Given the description of an element on the screen output the (x, y) to click on. 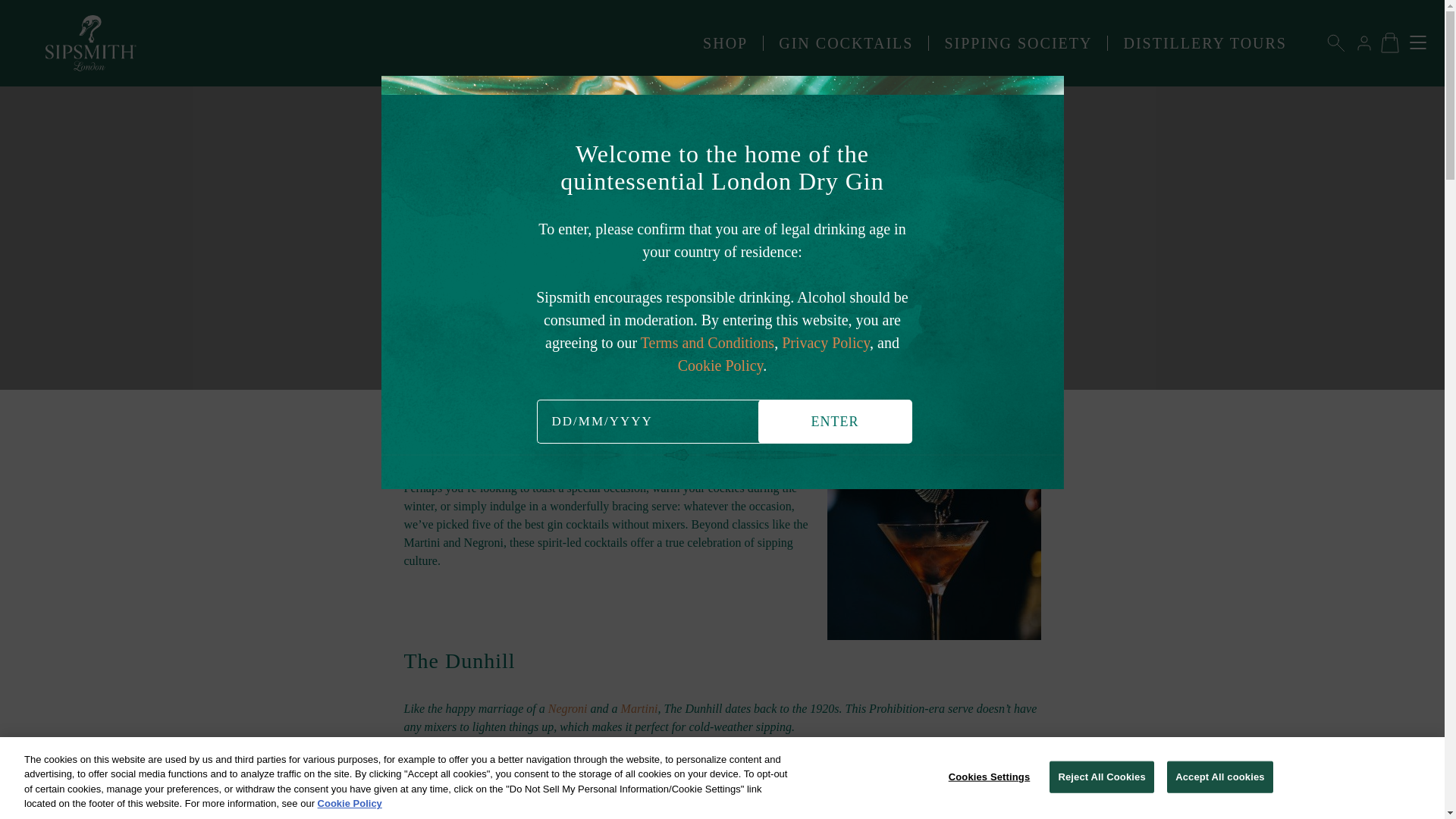
SHOP (725, 43)
Cart (1389, 42)
GIN COCKTAILS (845, 43)
SIPPING SOCIETY (1017, 43)
DISTILLERY TOURS (1204, 43)
